Given the description of an element on the screen output the (x, y) to click on. 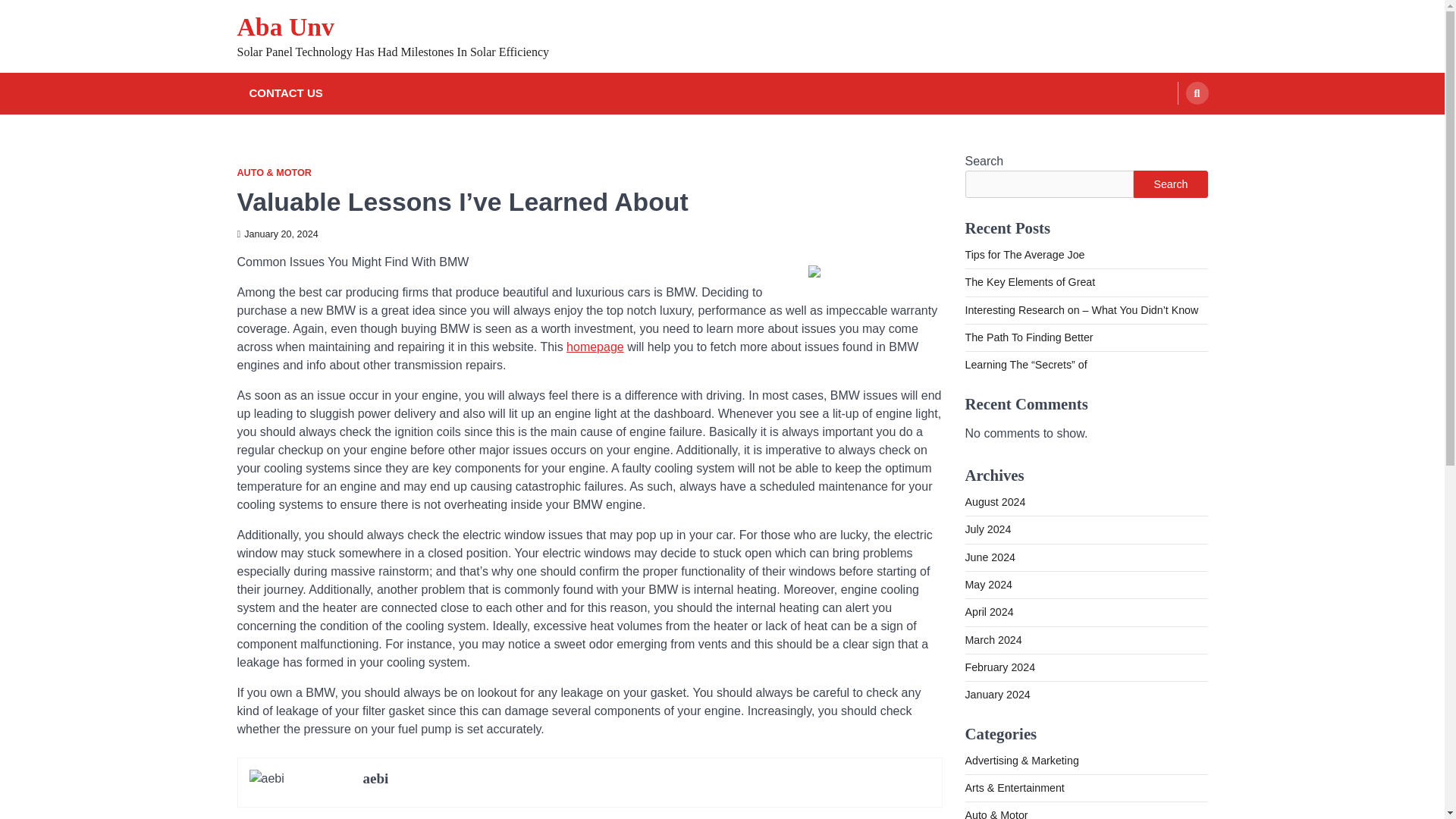
June 2024 (988, 557)
January 20, 2024 (276, 234)
February 2024 (999, 666)
homepage (595, 346)
The Key Elements of Great (1028, 282)
May 2024 (987, 584)
Search (1168, 128)
April 2024 (988, 612)
January 2024 (996, 694)
The Path To Finding Better (1028, 337)
